Given the description of an element on the screen output the (x, y) to click on. 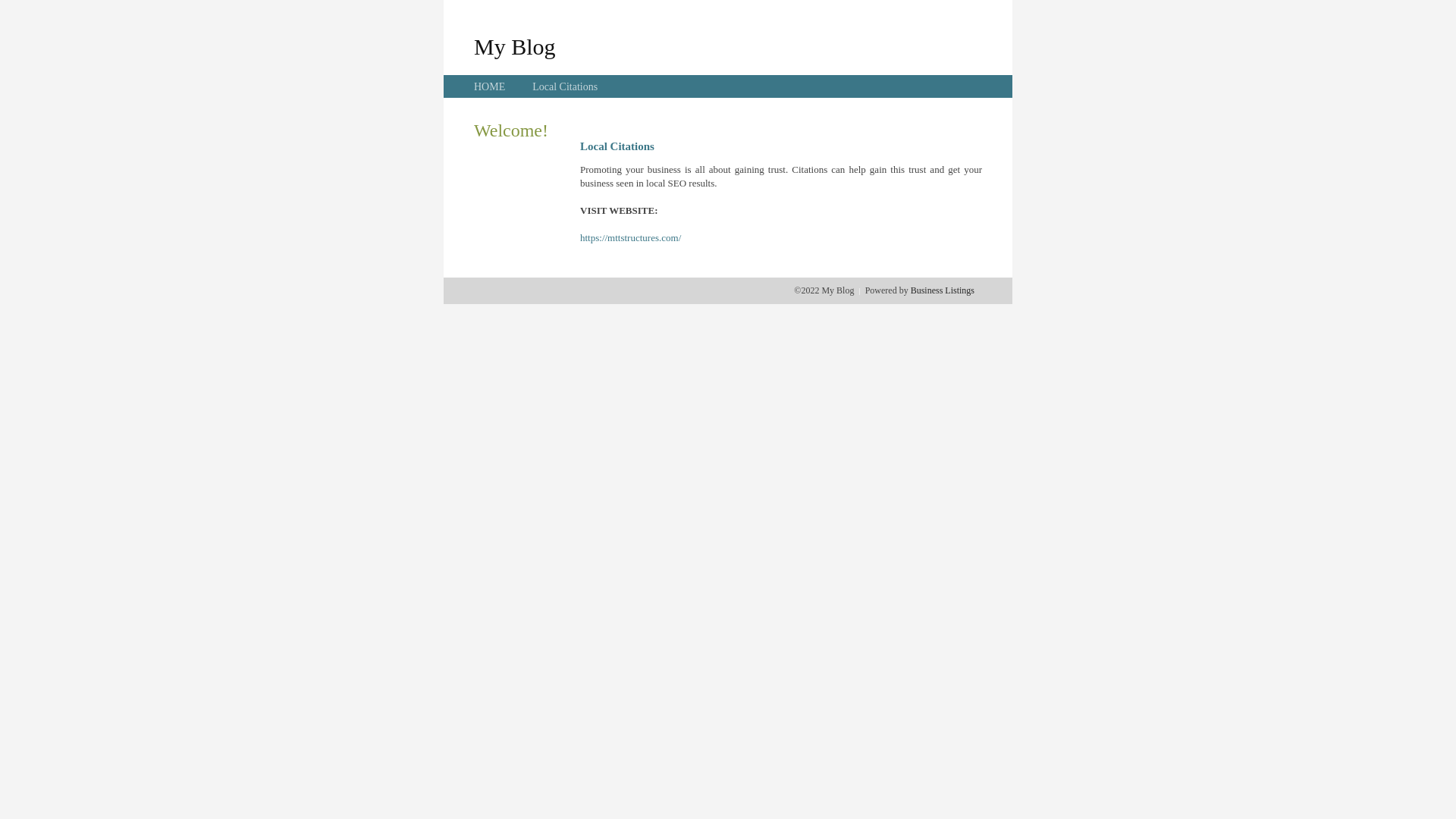
HOME Element type: text (489, 86)
Business Listings Element type: text (942, 290)
My Blog Element type: text (514, 46)
https://mttstructures.com/ Element type: text (630, 237)
Local Citations Element type: text (564, 86)
